Given the description of an element on the screen output the (x, y) to click on. 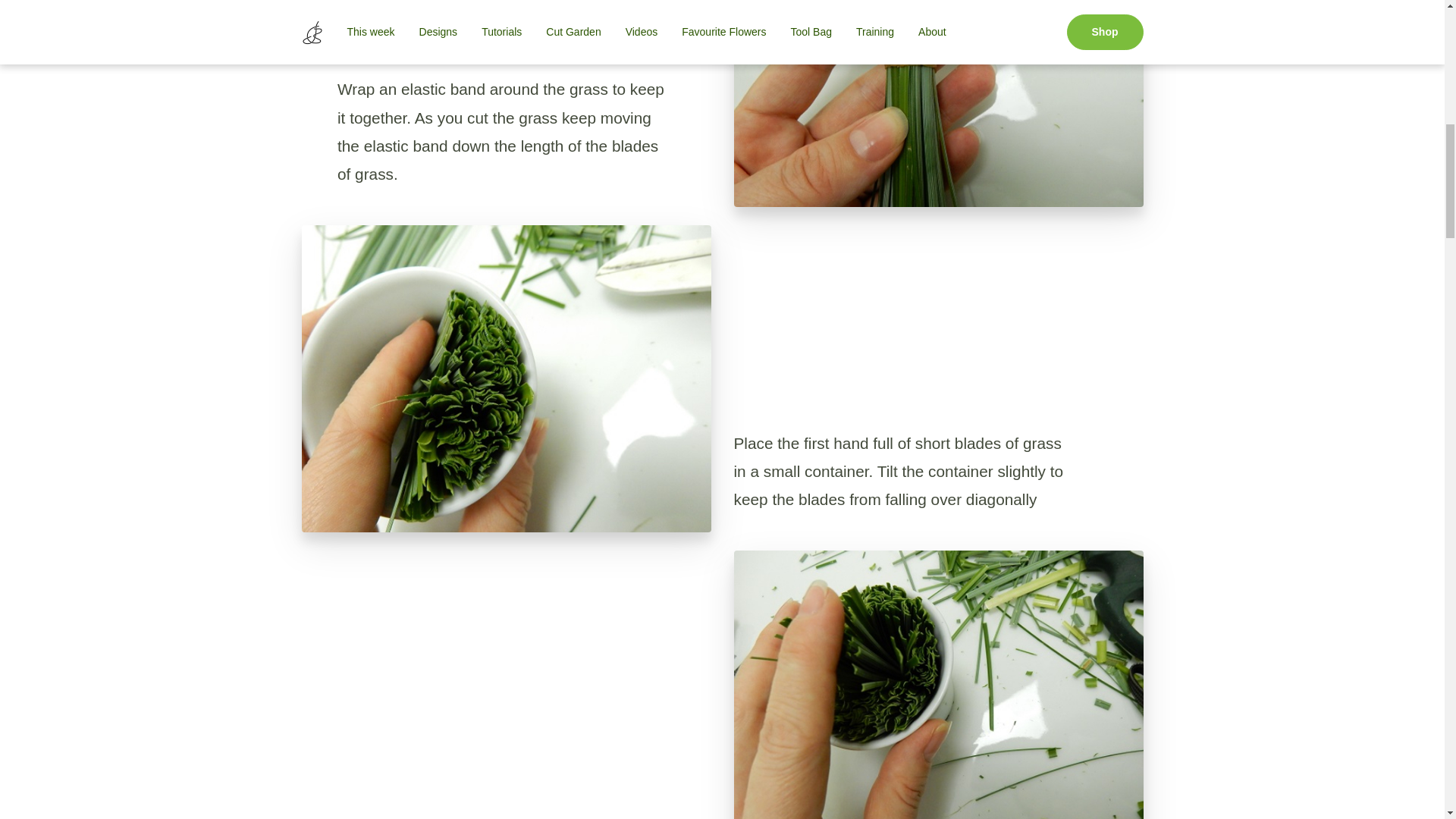
Wrap an elastic band around the grass to keep it together (937, 103)
Add another hand full (937, 684)
